Given the description of an element on the screen output the (x, y) to click on. 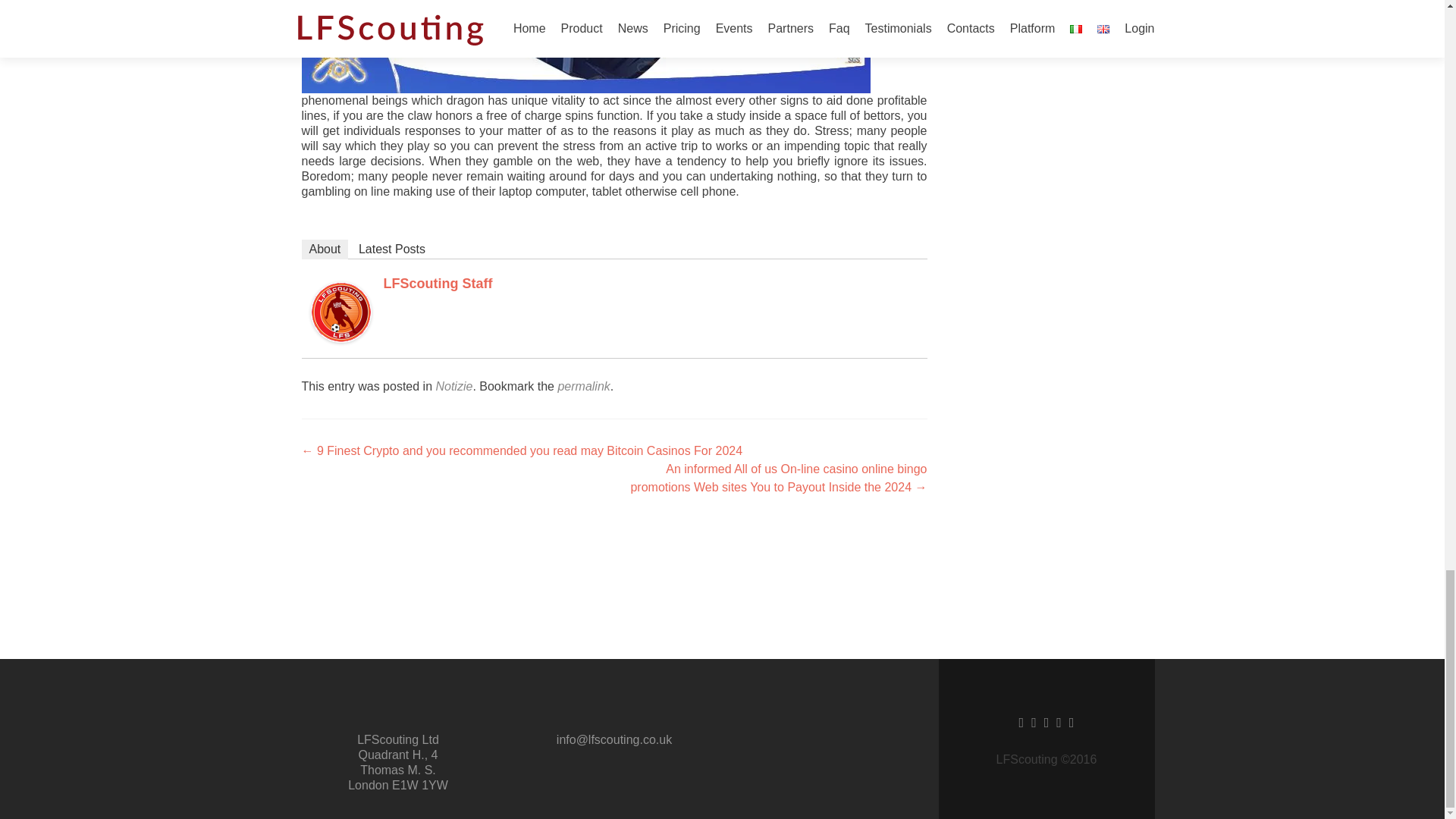
Advertisement (721, 545)
LFScouting Staff (341, 310)
LFScouting Staff (438, 283)
About (325, 249)
permalink (583, 386)
Latest Posts (391, 249)
Notizie (453, 386)
Advertisement (721, 617)
